Given the description of an element on the screen output the (x, y) to click on. 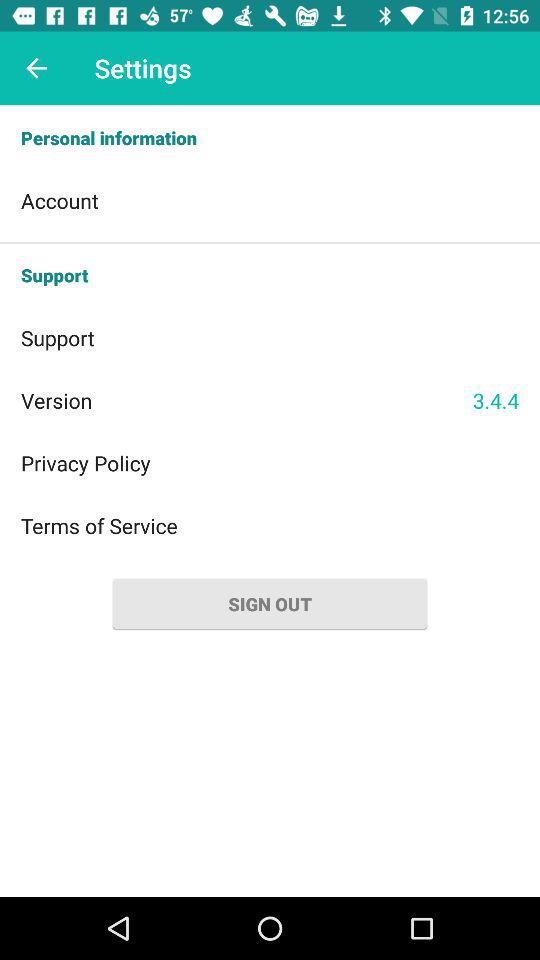
choose item to the right of the version item (495, 400)
